Given the description of an element on the screen output the (x, y) to click on. 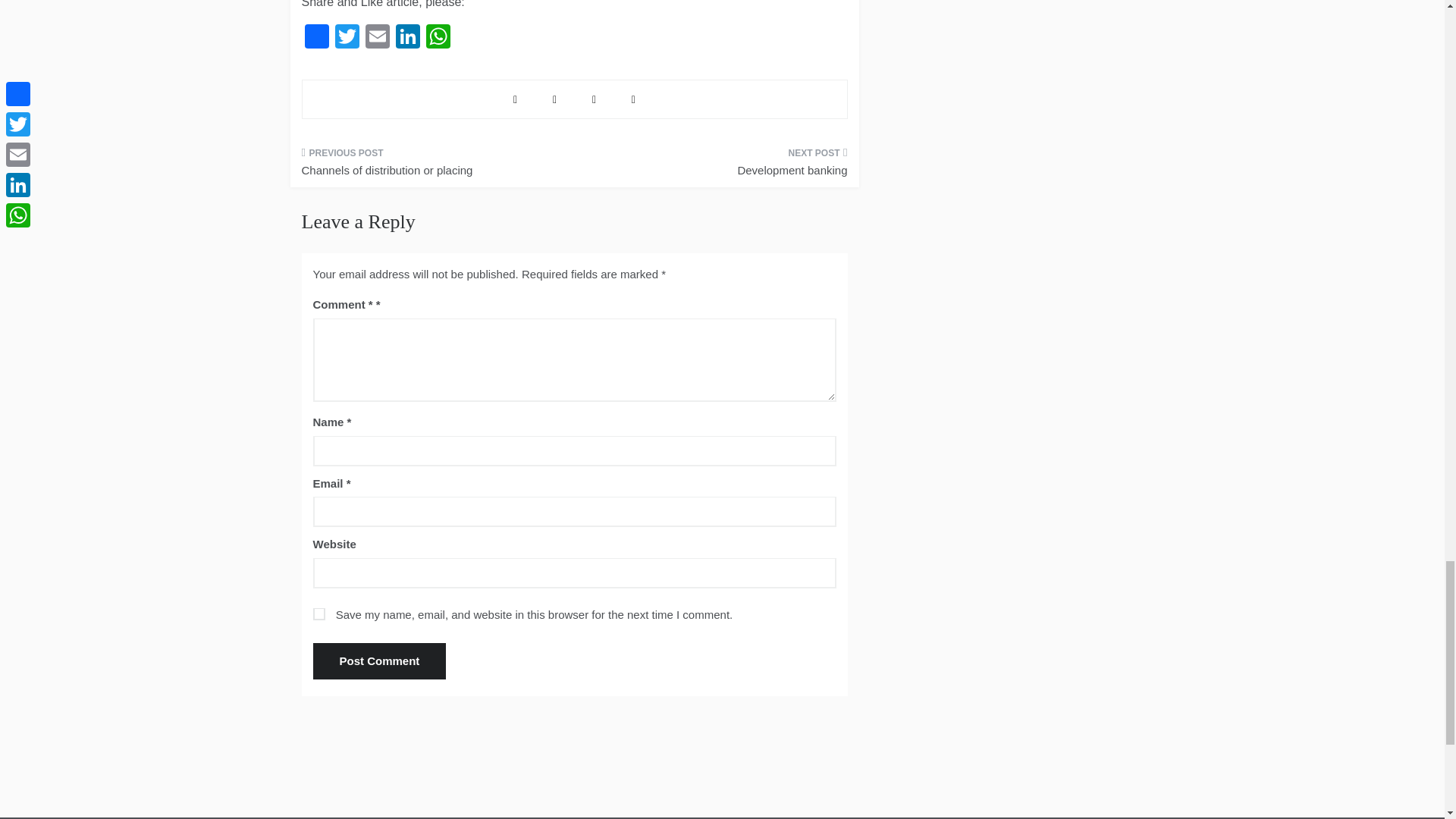
Post Comment (379, 660)
Twitter (346, 38)
LinkedIn (408, 38)
LinkedIn (408, 38)
Email (377, 38)
Development banking (716, 166)
Post Comment (379, 660)
Channels of distribution or placing (432, 166)
Email (377, 38)
Facebook (316, 38)
